Given the description of an element on the screen output the (x, y) to click on. 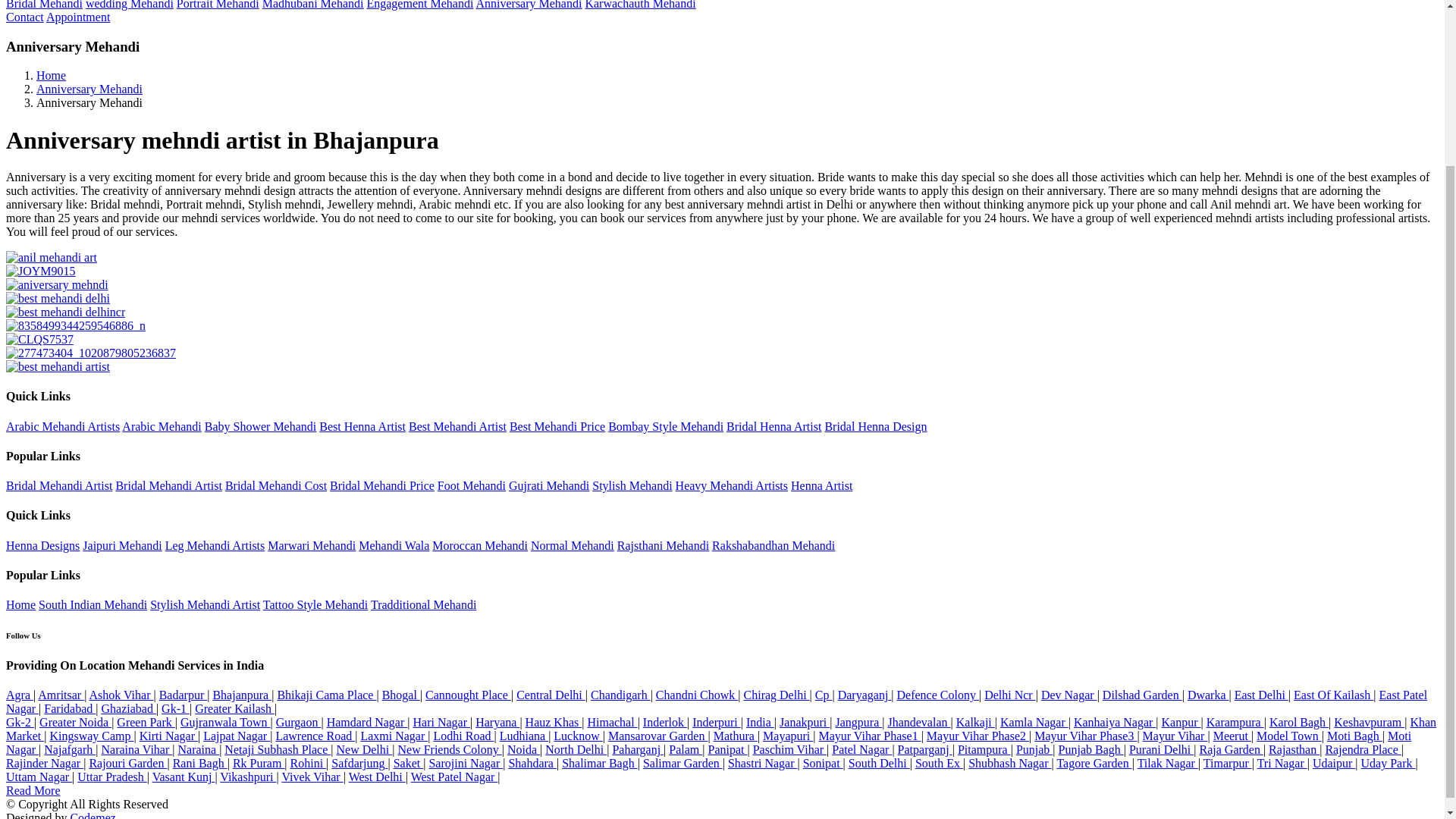
Arabic Mehandi Artists (62, 426)
Anniversary Mehandi (528, 4)
Best Henna Artist (362, 426)
best mehandi delhinc (65, 312)
Best Mehandi Artist (457, 426)
Bridal Henna Artist (773, 426)
Baby Shower Mehandi (261, 426)
best mehandi delh (57, 298)
Appointment (78, 16)
Portrait Mehandi (217, 4)
Engagement Mehandi (419, 4)
Madhubani Mehandi (313, 4)
Karwachauth Mehandi (640, 4)
Bombay Style Mehandi (665, 426)
best mehandi artis (57, 366)
